Given the description of an element on the screen output the (x, y) to click on. 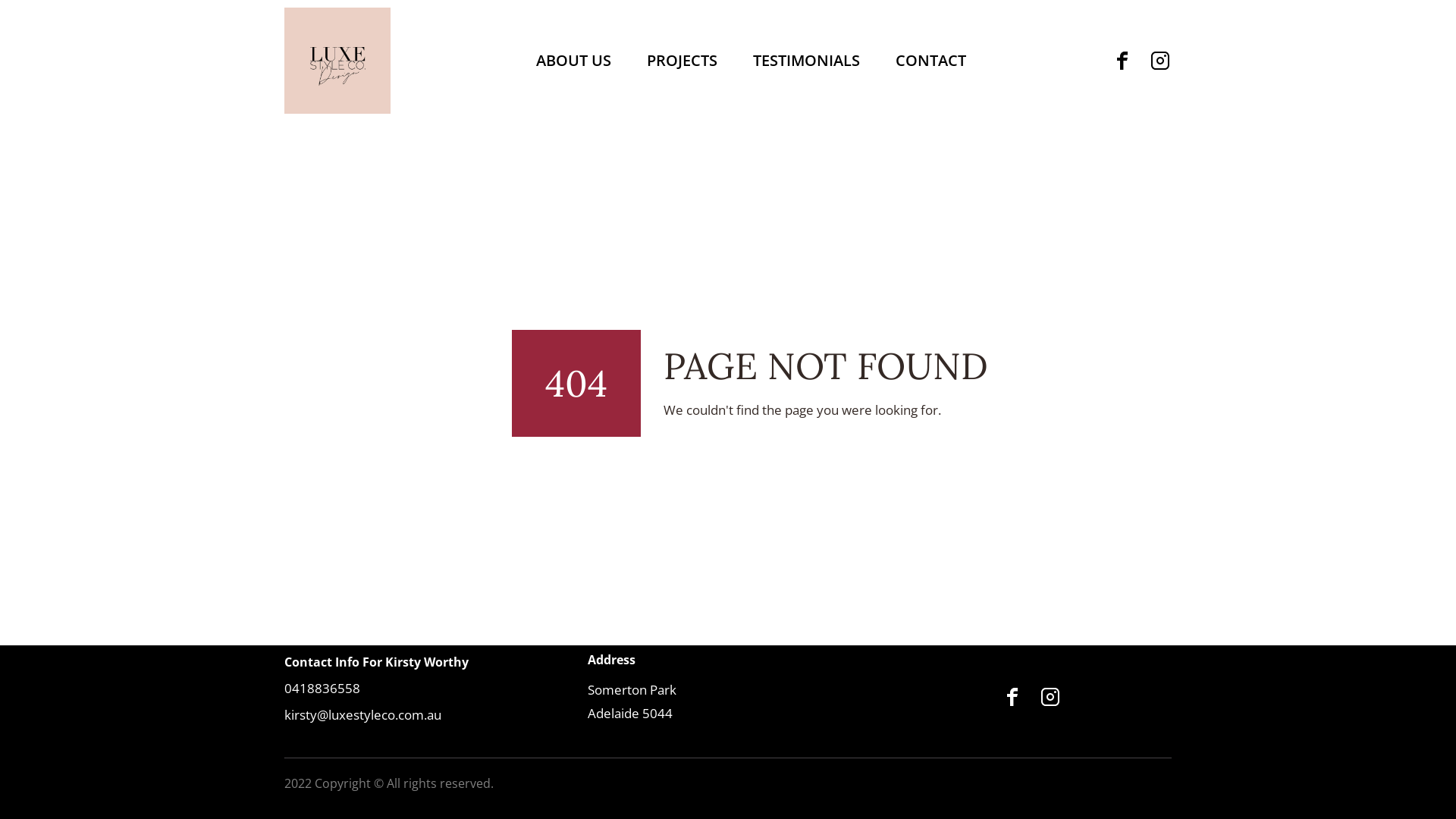
PROJECTS Element type: text (681, 60)
ABOUT US Element type: text (572, 60)
CONTACT Element type: text (930, 60)
0418836558 Element type: text (322, 688)
kirsty@luxestyleco.com.au Element type: text (362, 715)
TESTIMONIALS Element type: text (805, 60)
